Given the description of an element on the screen output the (x, y) to click on. 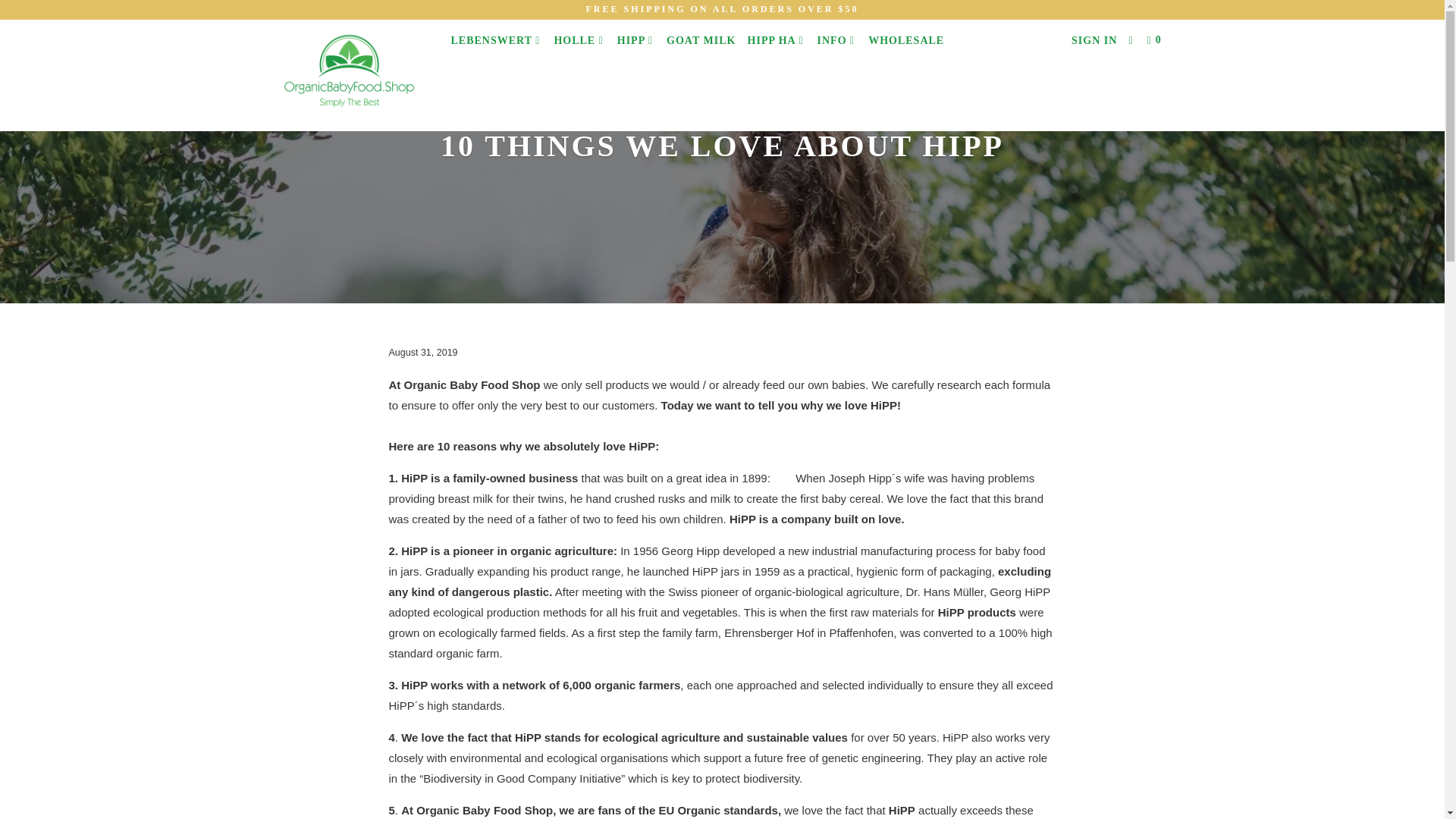
Organicbabyfood.shop (352, 74)
My Account  (1093, 40)
